Given the description of an element on the screen output the (x, y) to click on. 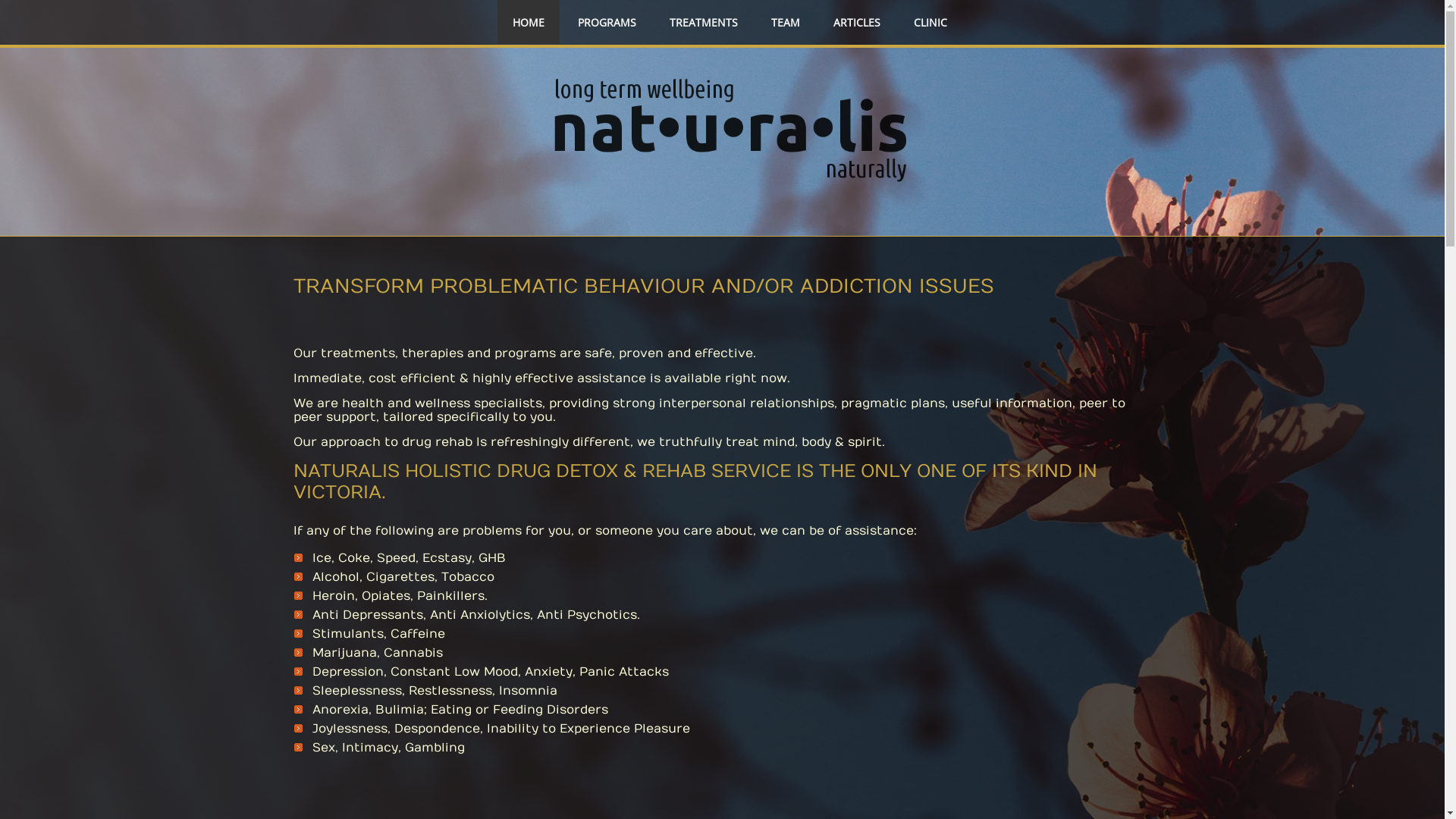
CLINIC Element type: text (930, 22)
ARTICLES Element type: text (856, 22)
HOME Element type: text (528, 22)
TEAM Element type: text (785, 22)
PROGRAMS Element type: text (606, 22)
TREATMENTS Element type: text (703, 22)
